Given the description of an element on the screen output the (x, y) to click on. 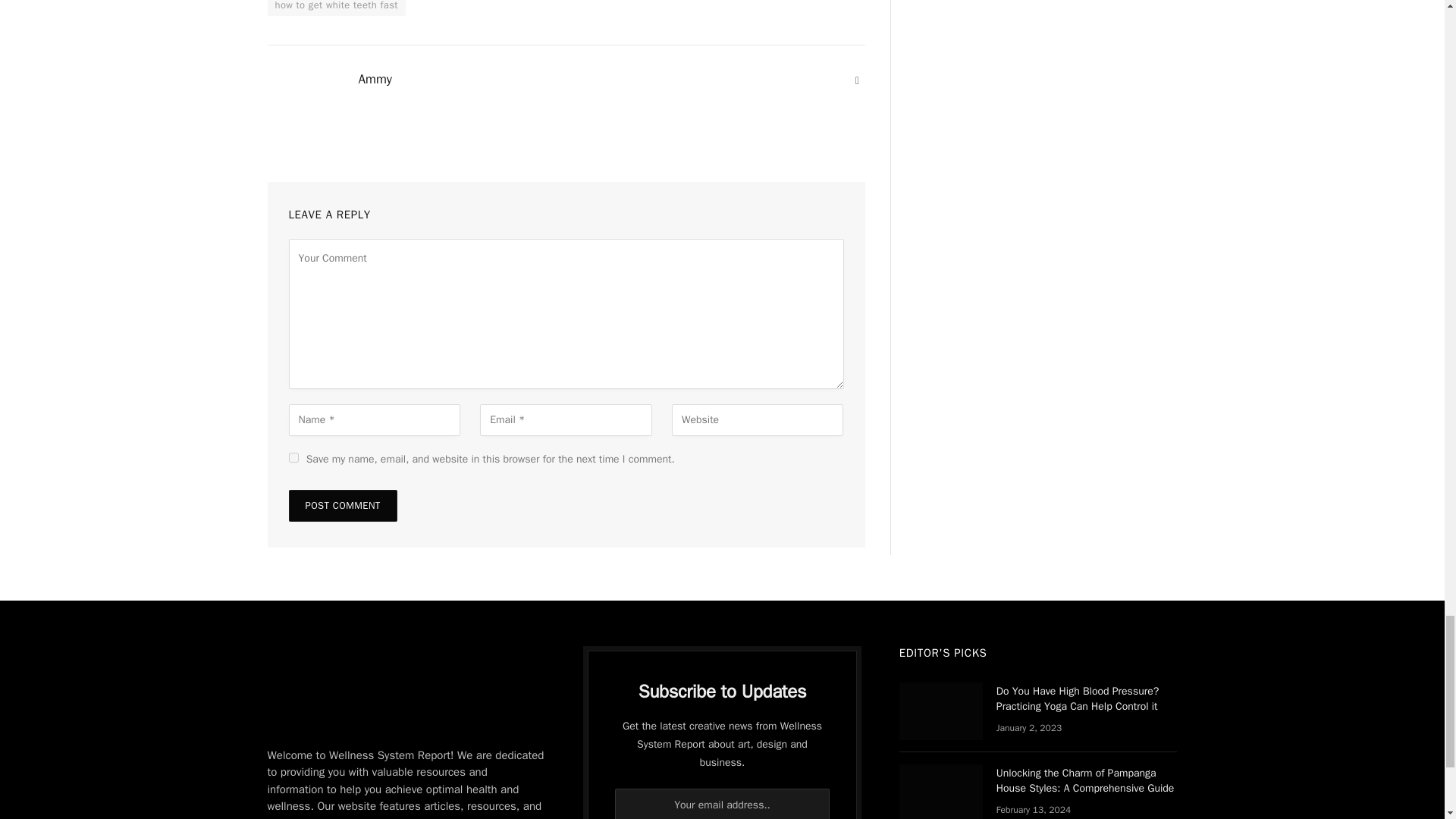
Posts by Ammy (374, 79)
Post Comment (342, 505)
Website (856, 80)
yes (293, 457)
